Given the description of an element on the screen output the (x, y) to click on. 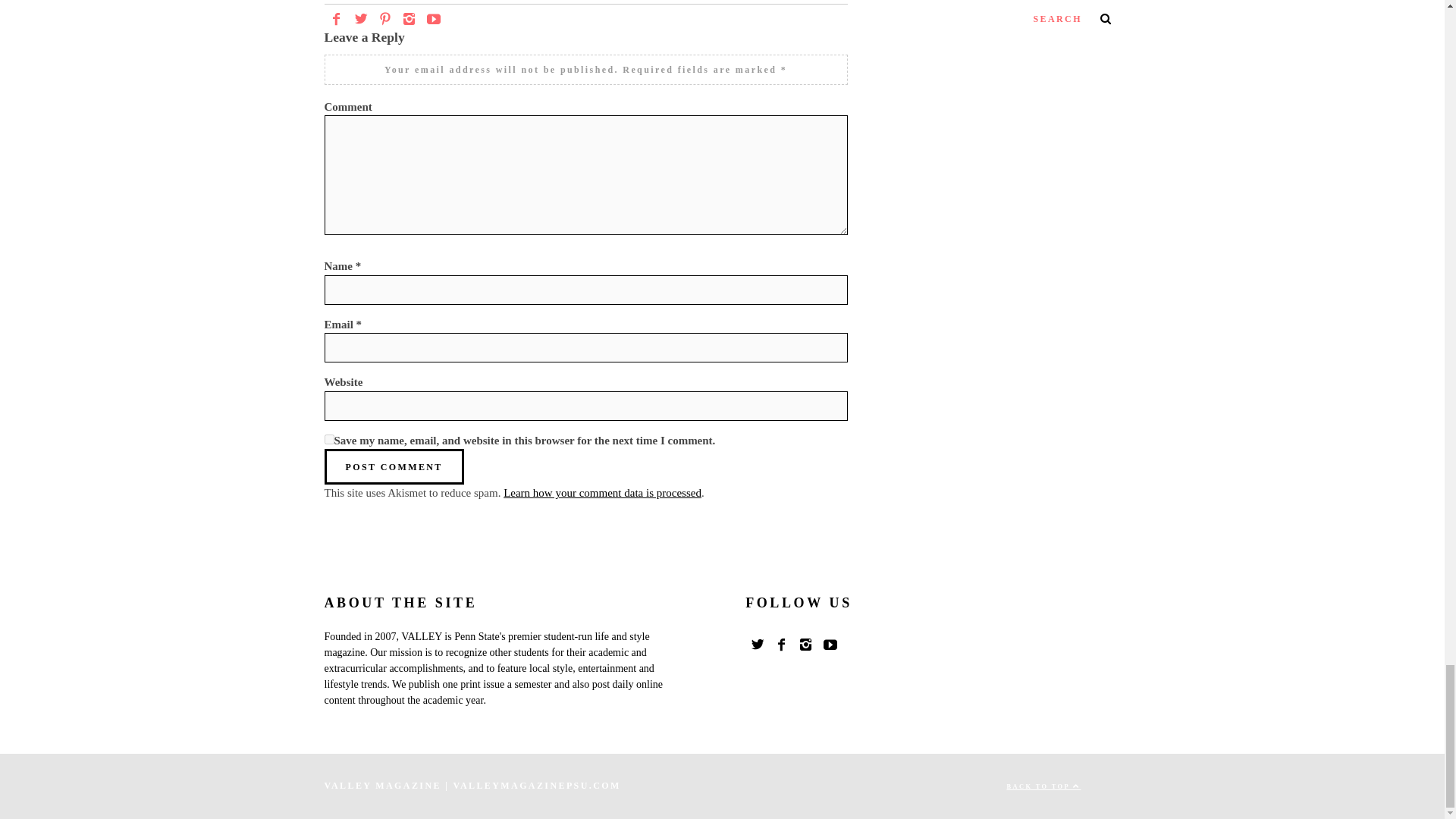
Post Comment (394, 466)
yes (329, 439)
